Given the description of an element on the screen output the (x, y) to click on. 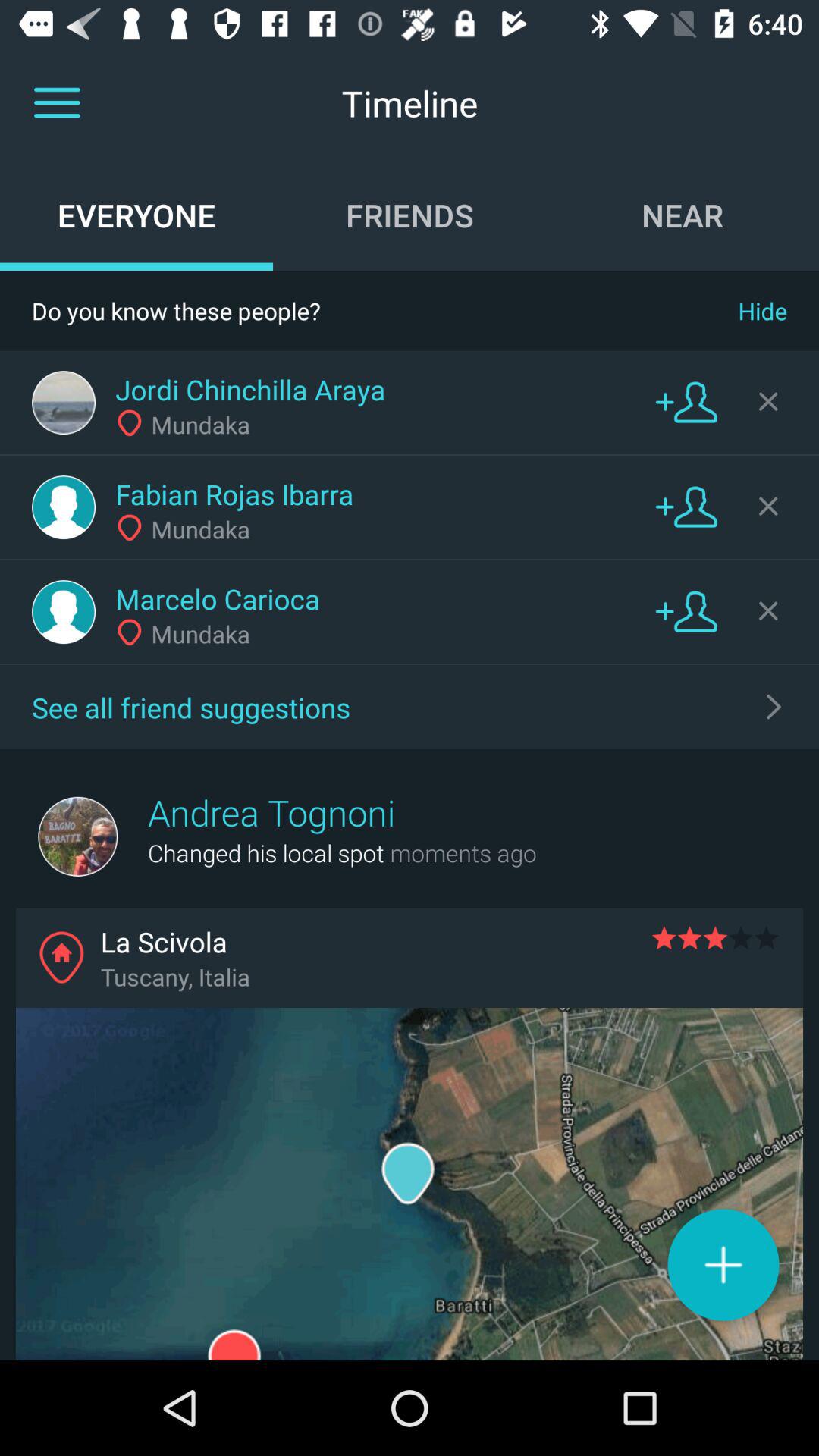
hide this contact (768, 610)
